Given the description of an element on the screen output the (x, y) to click on. 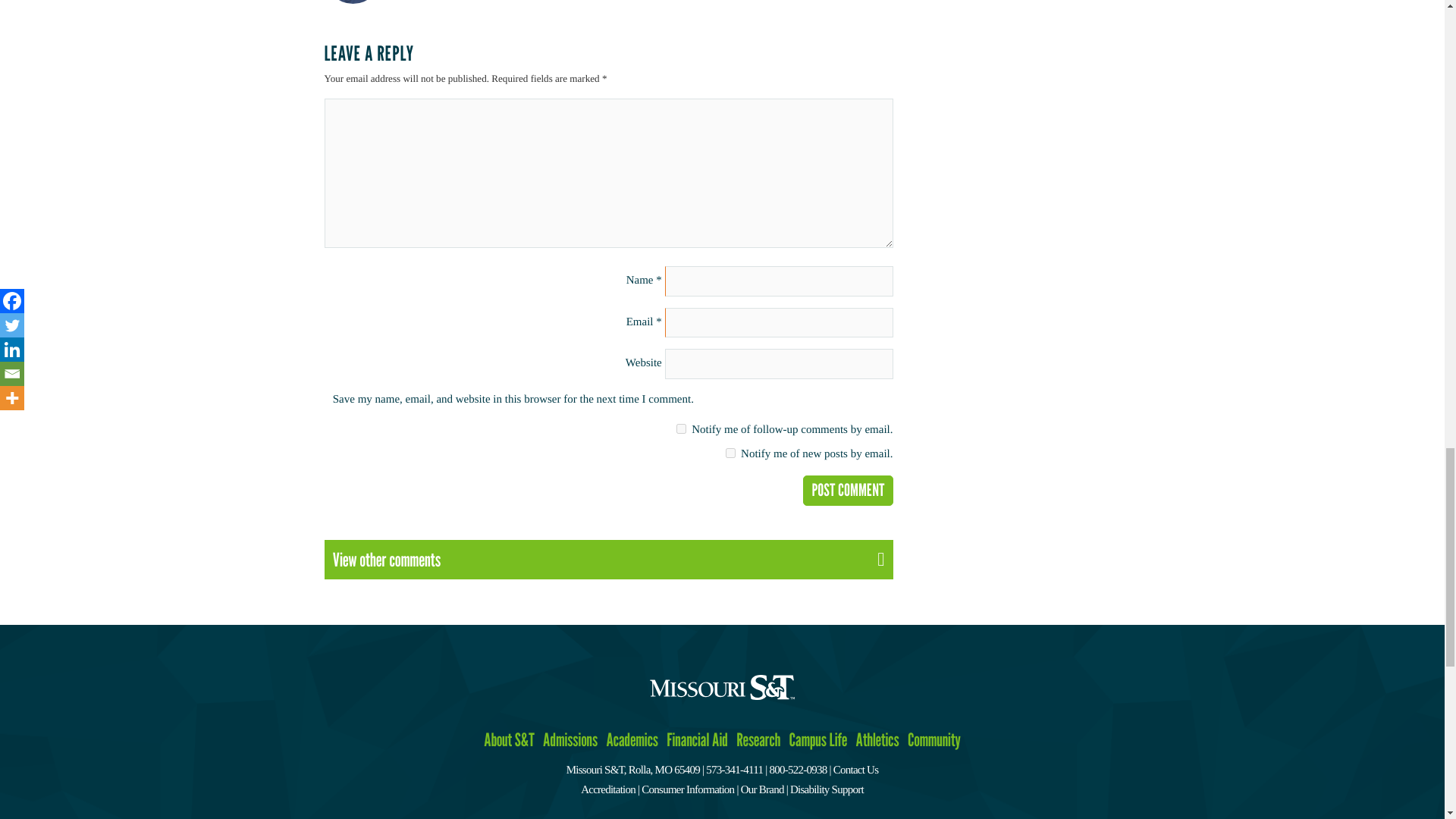
subscribe (730, 452)
Post Comment (847, 490)
subscribe (681, 429)
